Given the description of an element on the screen output the (x, y) to click on. 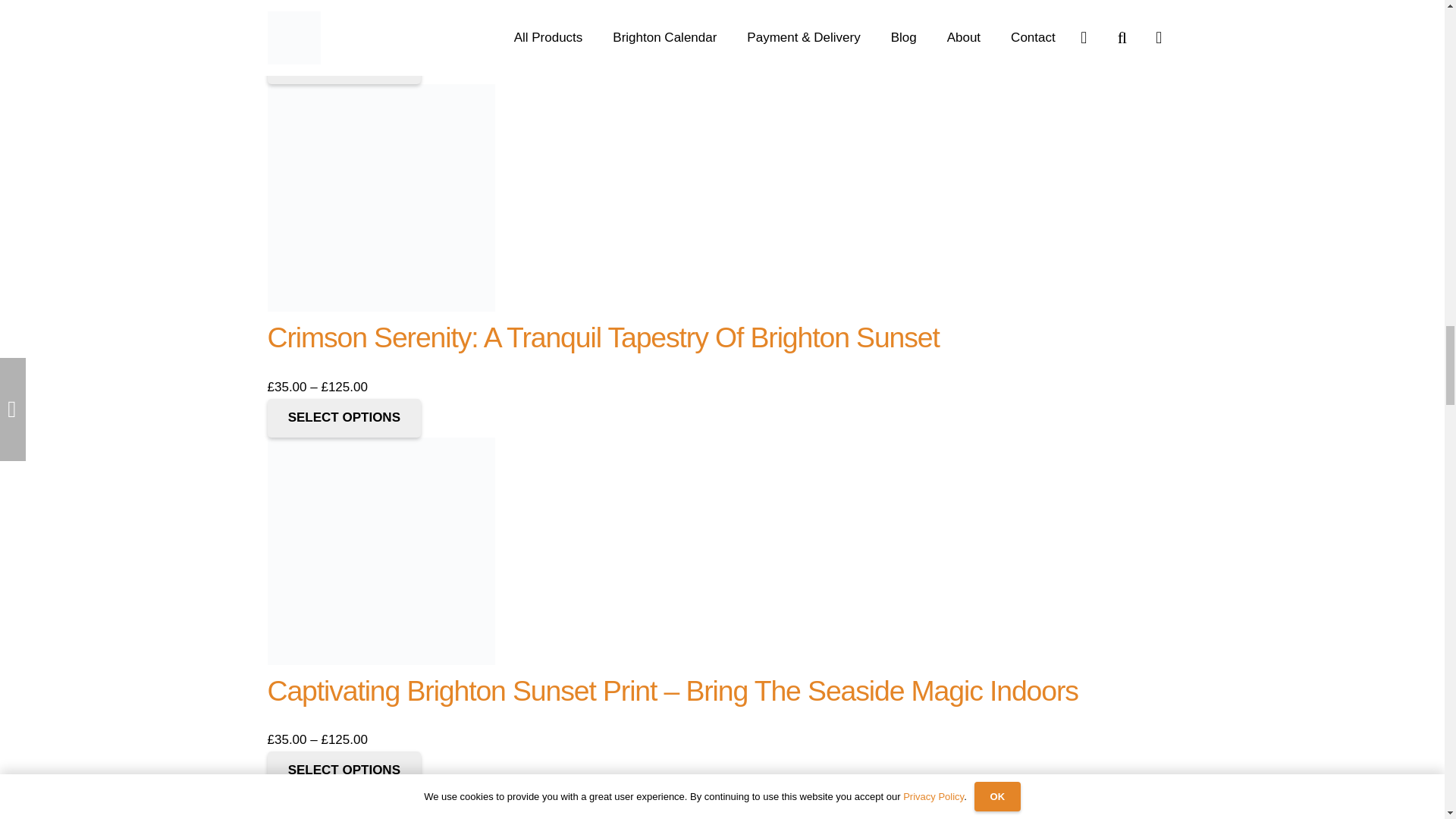
SELECT OPTIONS (343, 417)
SELECT OPTIONS (343, 64)
SELECT OPTIONS (343, 770)
Crimson Serenity: A Tranquil Tapestry Of Brighton Sunset (602, 336)
